Given the description of an element on the screen output the (x, y) to click on. 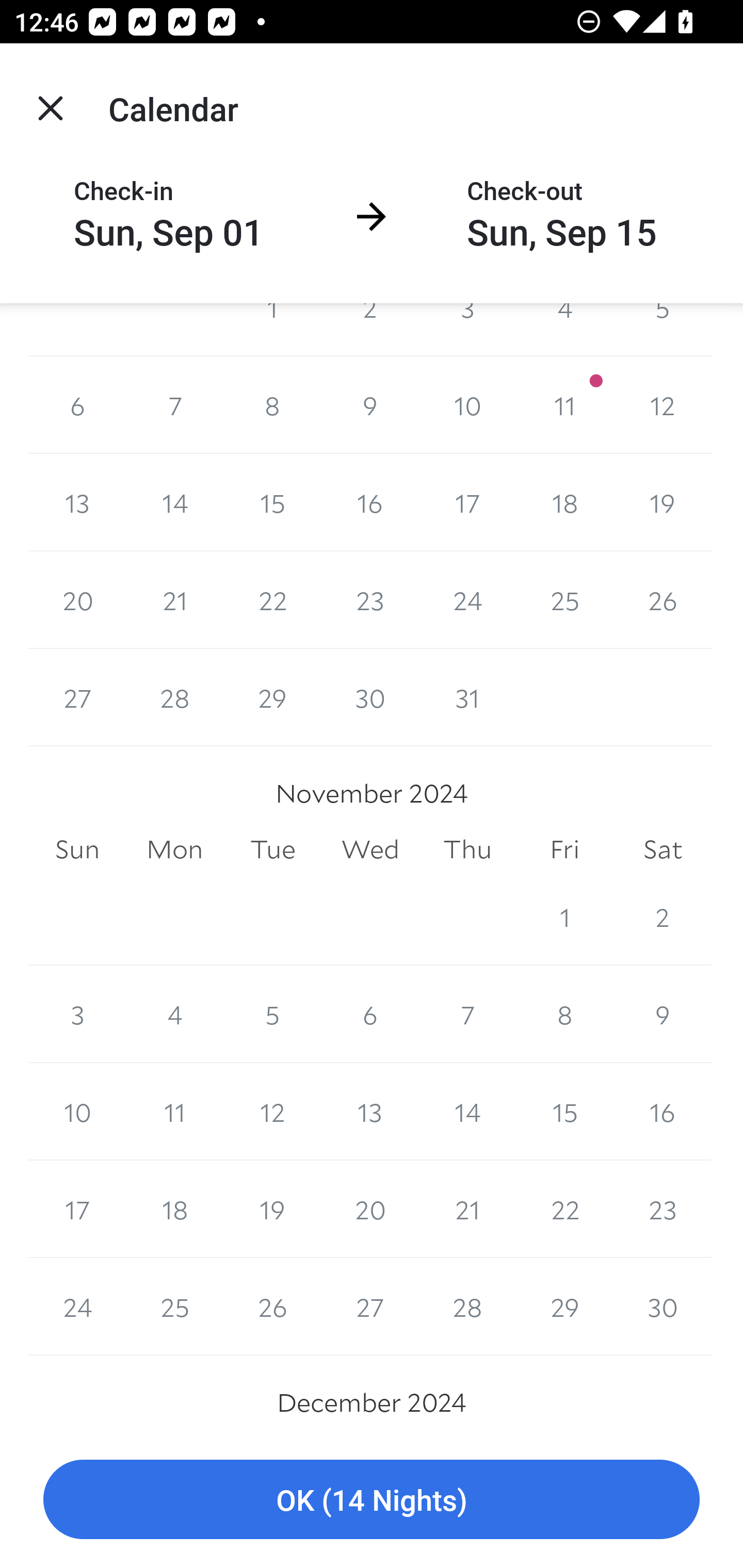
6 6 October 2024 (77, 404)
7 7 October 2024 (174, 404)
8 8 October 2024 (272, 404)
9 9 October 2024 (370, 404)
10 10 October 2024 (467, 404)
11 11 October 2024 (564, 404)
12 12 October 2024 (662, 404)
13 13 October 2024 (77, 502)
14 14 October 2024 (174, 502)
15 15 October 2024 (272, 502)
16 16 October 2024 (370, 502)
17 17 October 2024 (467, 502)
18 18 October 2024 (564, 502)
19 19 October 2024 (662, 502)
20 20 October 2024 (77, 600)
21 21 October 2024 (174, 600)
22 22 October 2024 (272, 600)
23 23 October 2024 (370, 600)
24 24 October 2024 (467, 600)
25 25 October 2024 (564, 600)
26 26 October 2024 (662, 600)
27 27 October 2024 (77, 697)
28 28 October 2024 (174, 697)
29 29 October 2024 (272, 697)
30 30 October 2024 (370, 697)
31 31 October 2024 (467, 697)
Sun (77, 849)
Mon (174, 849)
Tue (272, 849)
Wed (370, 849)
Thu (467, 849)
Fri (564, 849)
Sat (662, 849)
1 1 November 2024 (564, 916)
2 2 November 2024 (662, 916)
3 3 November 2024 (77, 1014)
4 4 November 2024 (174, 1014)
5 5 November 2024 (272, 1014)
6 6 November 2024 (370, 1014)
7 7 November 2024 (467, 1014)
8 8 November 2024 (564, 1014)
9 9 November 2024 (662, 1014)
10 10 November 2024 (77, 1111)
11 11 November 2024 (174, 1111)
12 12 November 2024 (272, 1111)
13 13 November 2024 (370, 1111)
14 14 November 2024 (467, 1111)
15 15 November 2024 (564, 1111)
16 16 November 2024 (662, 1111)
17 17 November 2024 (77, 1208)
18 18 November 2024 (174, 1208)
19 19 November 2024 (272, 1208)
20 20 November 2024 (370, 1208)
21 21 November 2024 (467, 1208)
22 22 November 2024 (564, 1208)
23 23 November 2024 (662, 1208)
24 24 November 2024 (77, 1305)
25 25 November 2024 (174, 1305)
26 26 November 2024 (272, 1305)
27 27 November 2024 (370, 1305)
28 28 November 2024 (467, 1305)
29 29 November 2024 (564, 1305)
30 30 November 2024 (662, 1305)
OK (14 Nights) (371, 1499)
